Given the description of an element on the screen output the (x, y) to click on. 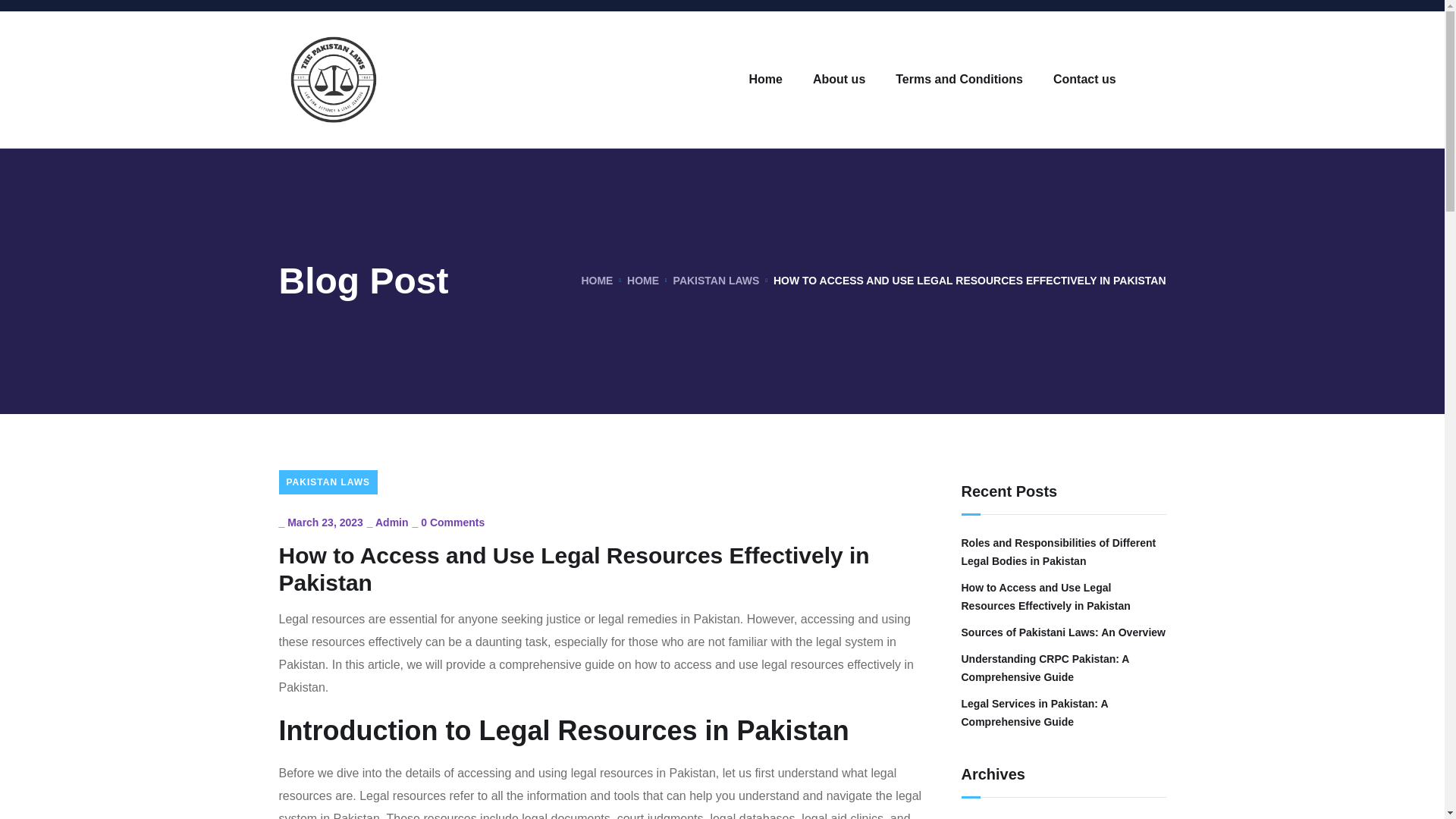
Understanding CRPC Pakistan: A Comprehensive Guide (1063, 668)
Admin (392, 522)
Home (766, 79)
March 23, 2023 (324, 522)
Legal Services in Pakistan: A Comprehensive Guide (1063, 712)
0 Comments (452, 522)
MARCH 2023 (993, 817)
HOME (596, 280)
Terms and Conditions (959, 79)
HOME (643, 280)
Sources of Pakistani Laws: An Overview (1063, 632)
About us (838, 79)
PAKISTAN LAWS (328, 482)
